Given the description of an element on the screen output the (x, y) to click on. 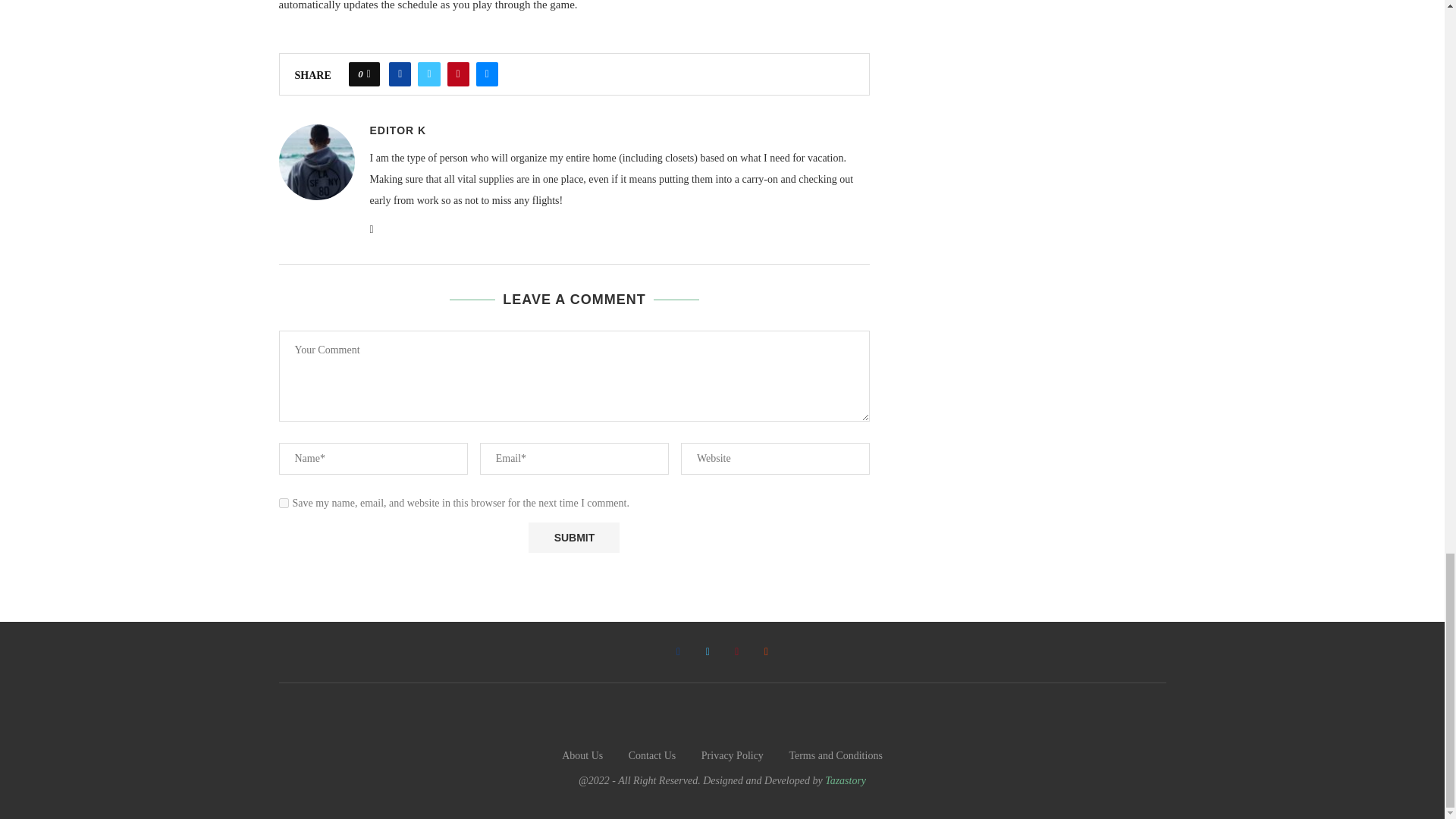
yes (283, 502)
Submit (574, 537)
Posts by editor k (397, 130)
